Given the description of an element on the screen output the (x, y) to click on. 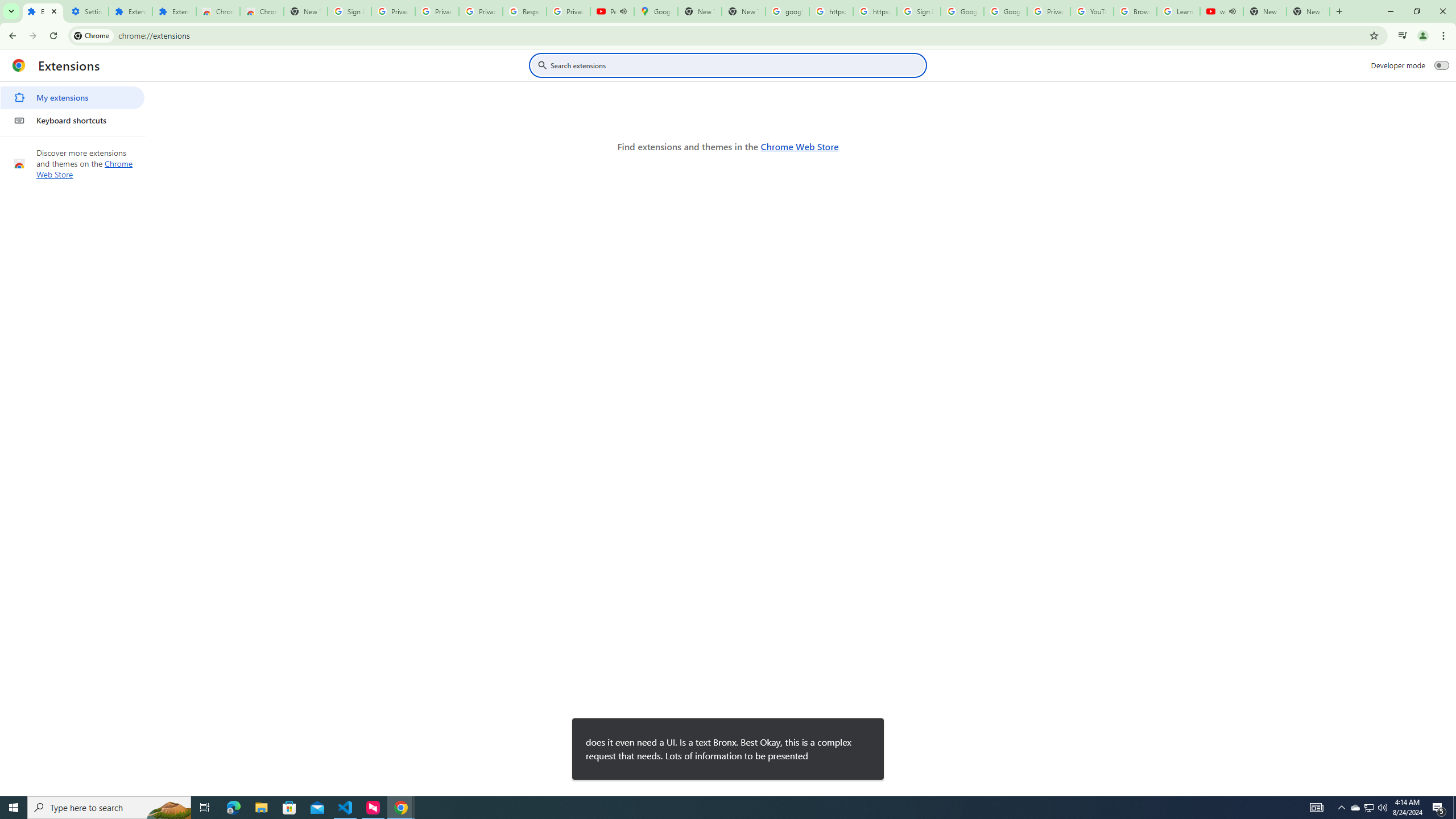
New Tab (305, 11)
Developer mode (1442, 64)
https://scholar.google.com/ (830, 11)
https://scholar.google.com/ (874, 11)
